Given the description of an element on the screen output the (x, y) to click on. 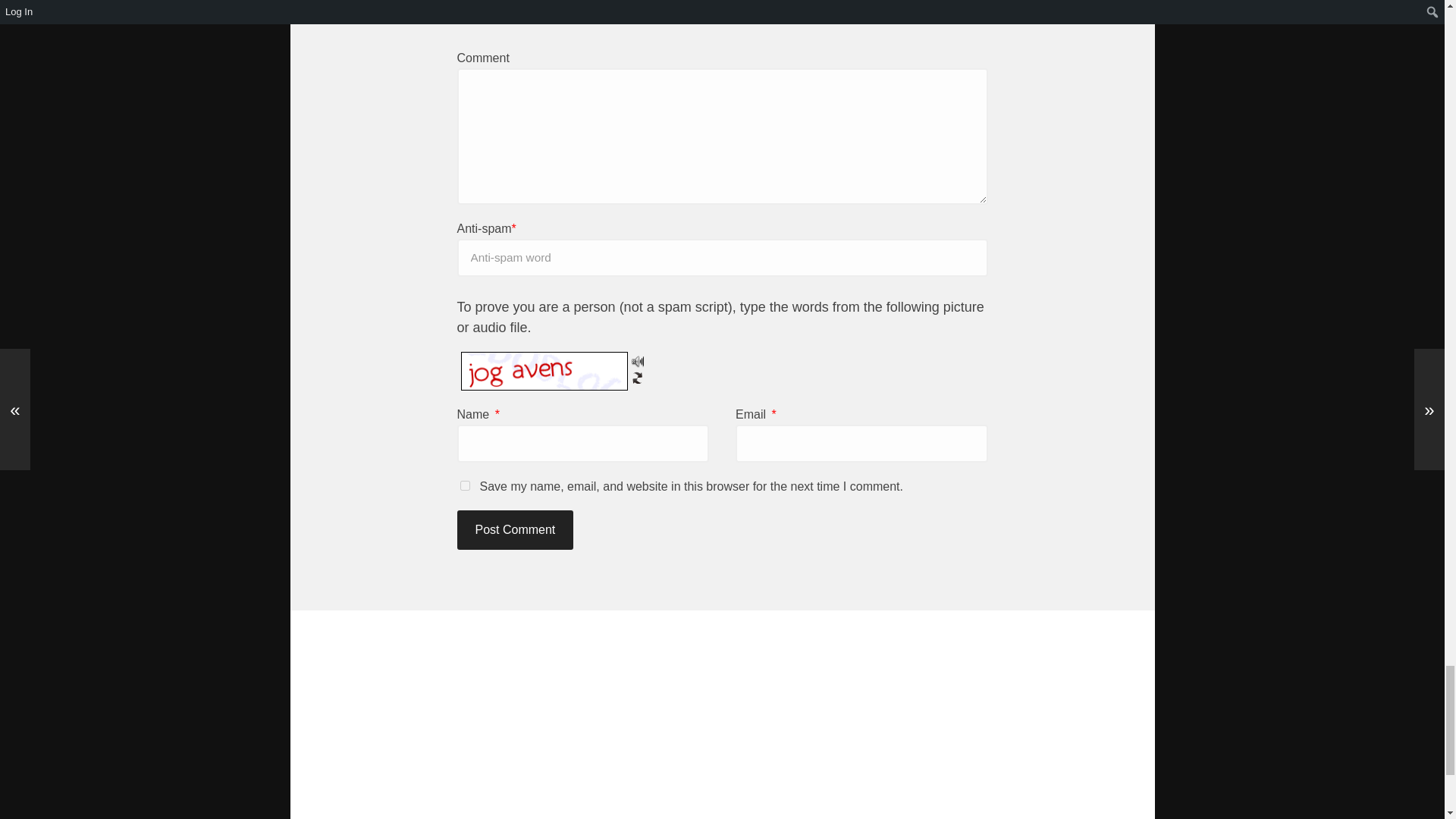
yes (464, 485)
Load new (636, 377)
Post Comment (515, 529)
Post Comment (515, 529)
Listen (636, 361)
